Given the description of an element on the screen output the (x, y) to click on. 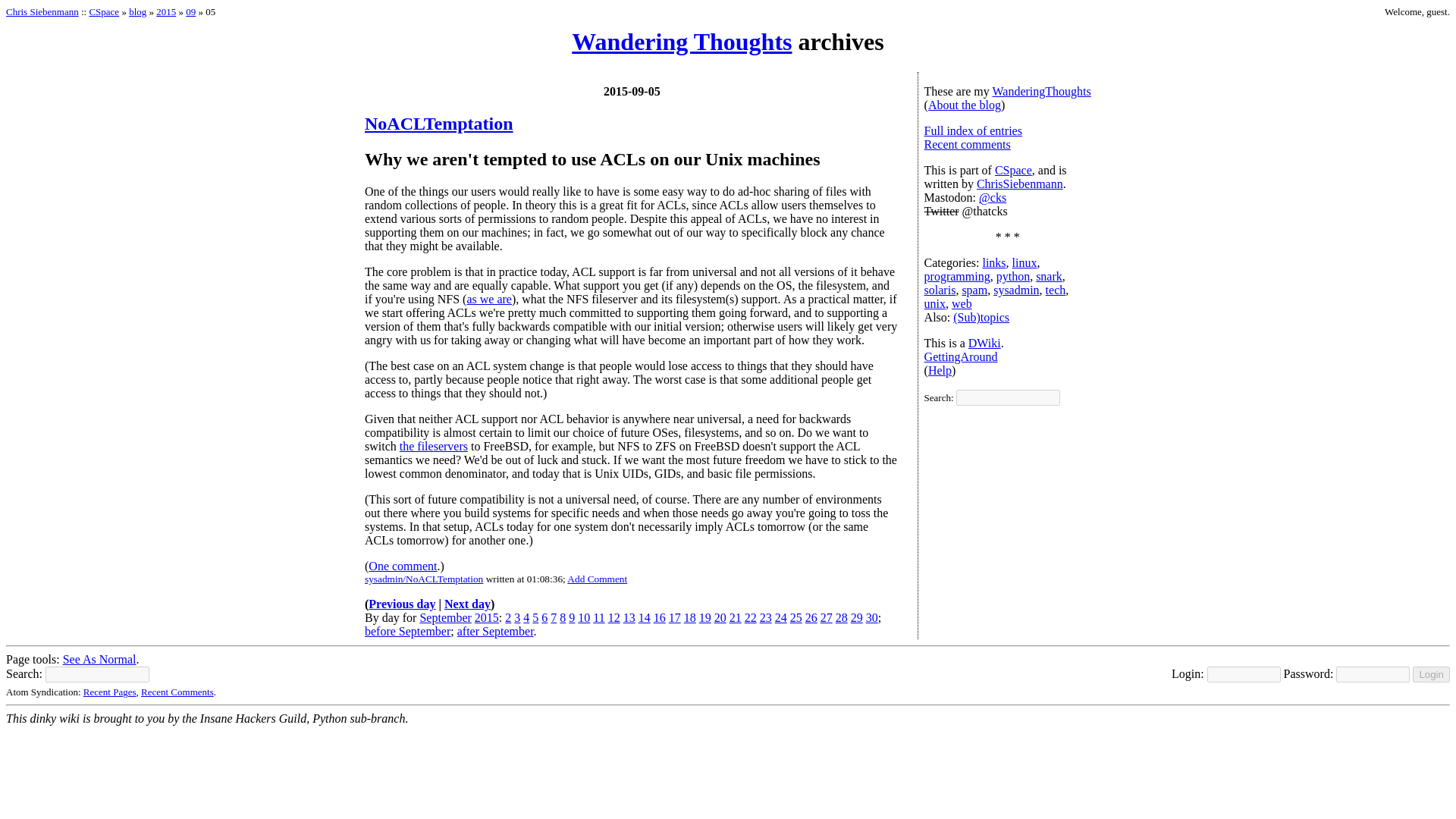
13 (628, 617)
2015 (486, 617)
Wandering Thoughts (682, 41)
Previous day (401, 603)
10 (583, 617)
Add Comment (597, 578)
12 (614, 617)
CSpace (103, 11)
Chris Siebenmann (41, 11)
26 (810, 617)
